Given the description of an element on the screen output the (x, y) to click on. 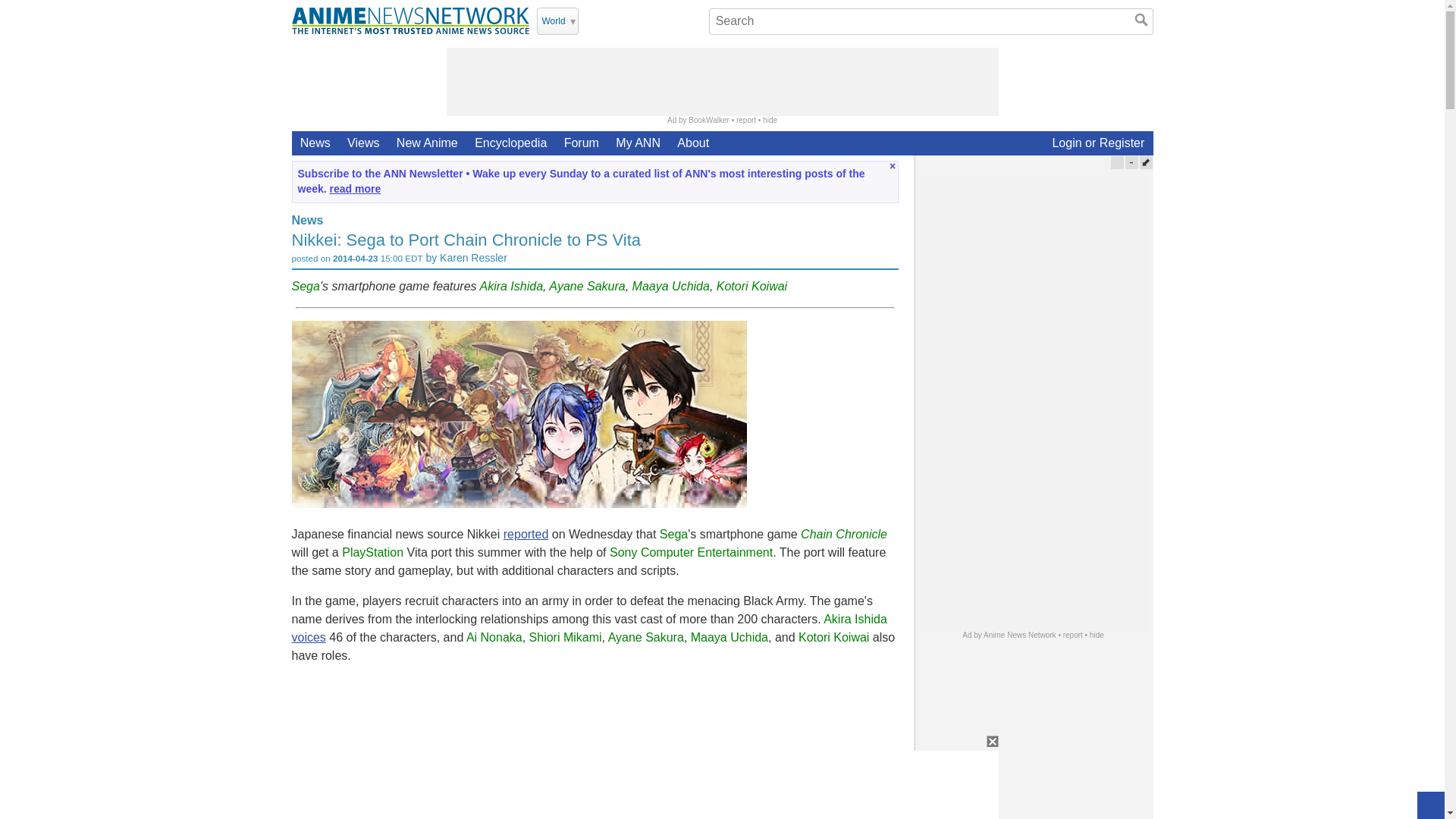
Bluesky (691, 20)
Return to Homepage (409, 20)
Twitter (592, 20)
Facebook (632, 20)
Choose Your Edition (557, 21)
Instagram (652, 20)
TikTok (671, 20)
Youtube (612, 20)
